Given the description of an element on the screen output the (x, y) to click on. 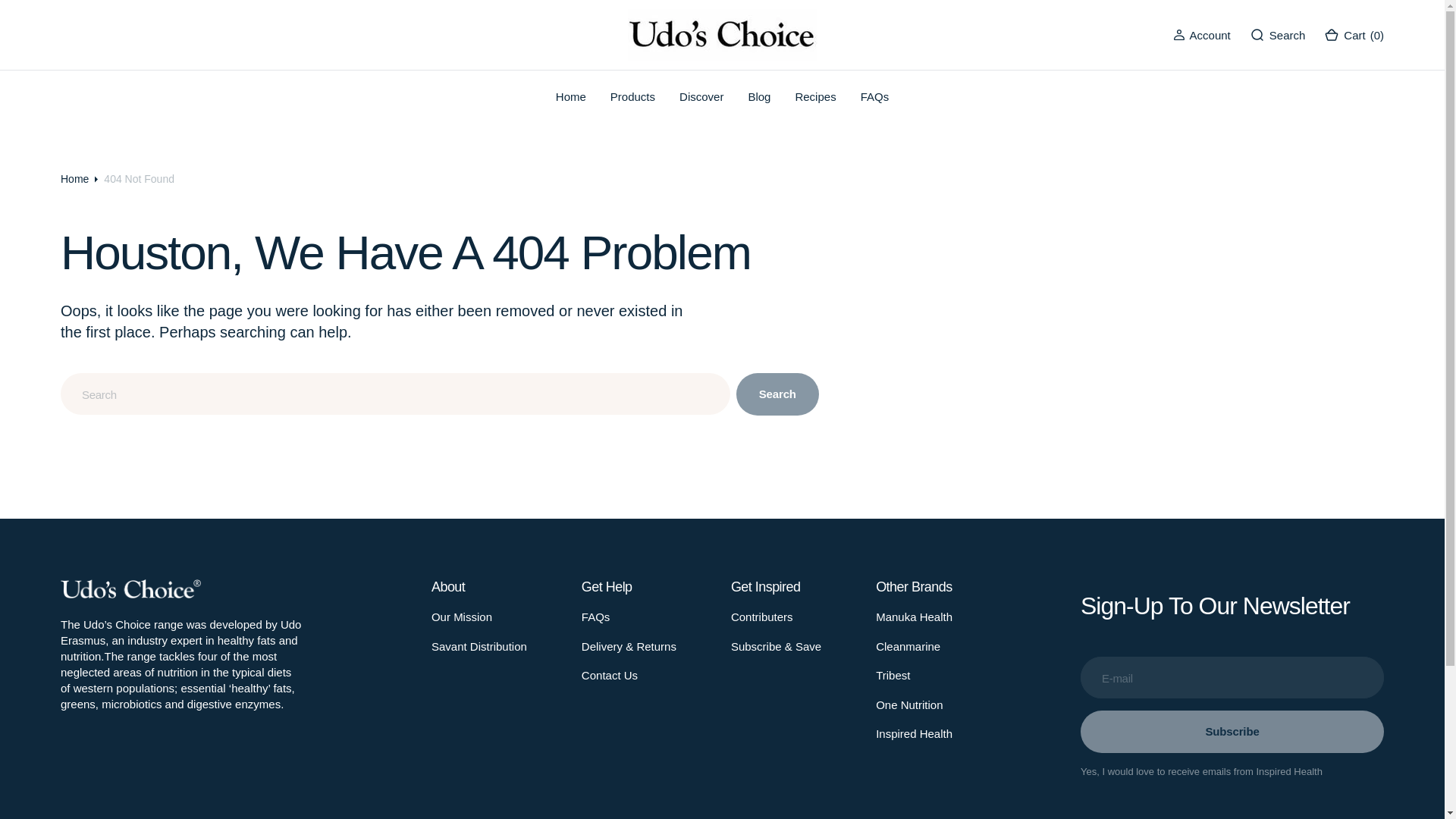
Account (1209, 35)
Discover (701, 96)
FAQs (874, 96)
Home (570, 96)
Search (1277, 35)
Home (571, 96)
Search (1287, 35)
Discover (700, 96)
Products (632, 96)
Products (632, 96)
